Given the description of an element on the screen output the (x, y) to click on. 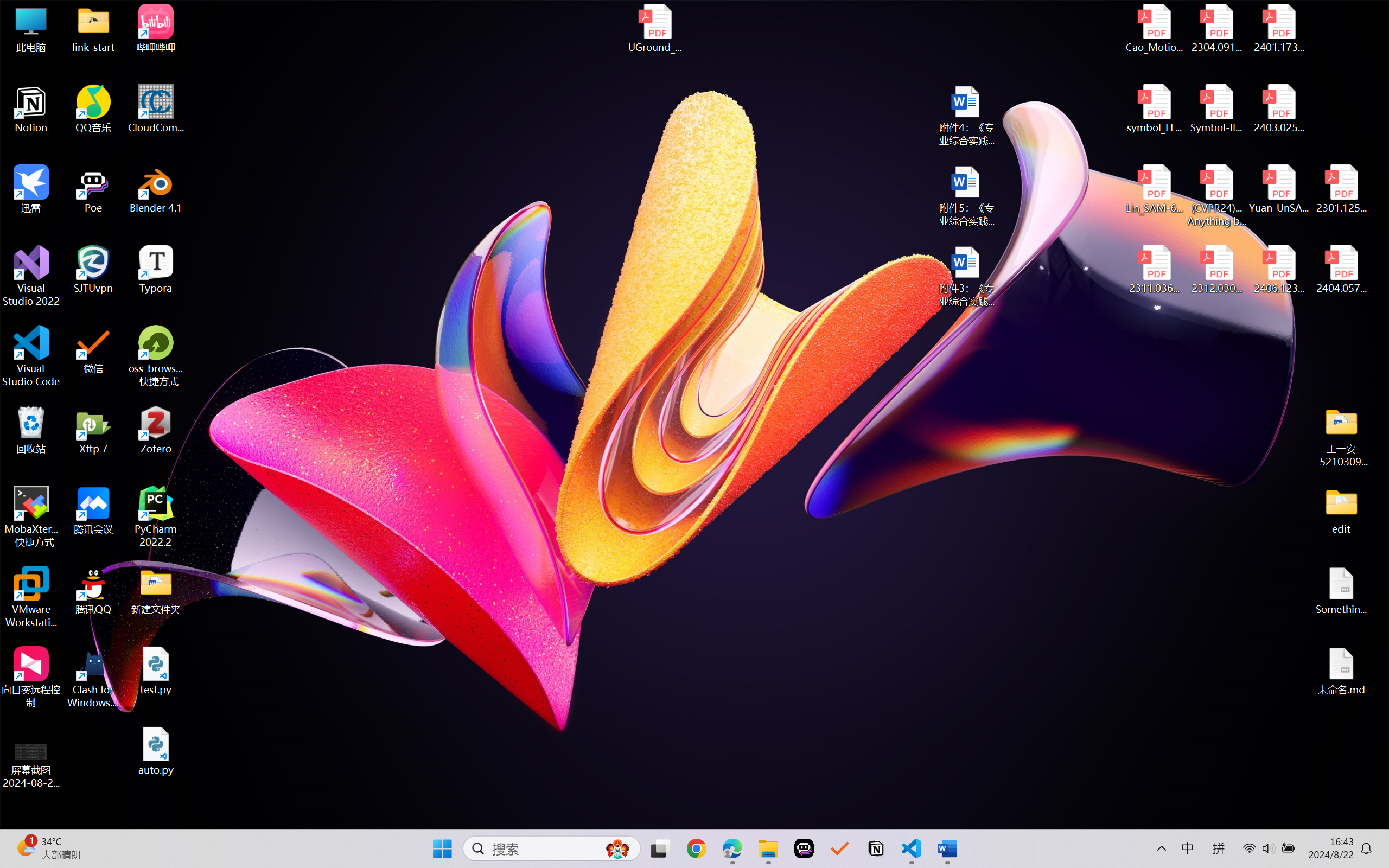
Symbol-llm-v2.pdf (1216, 109)
UGround_paper.pdf (654, 28)
Visual Studio Code (31, 355)
2301.12597v3.pdf (1340, 189)
Xftp 7 (93, 430)
2304.09121v3.pdf (1216, 28)
Visual Studio 2022 (31, 276)
